Given the description of an element on the screen output the (x, y) to click on. 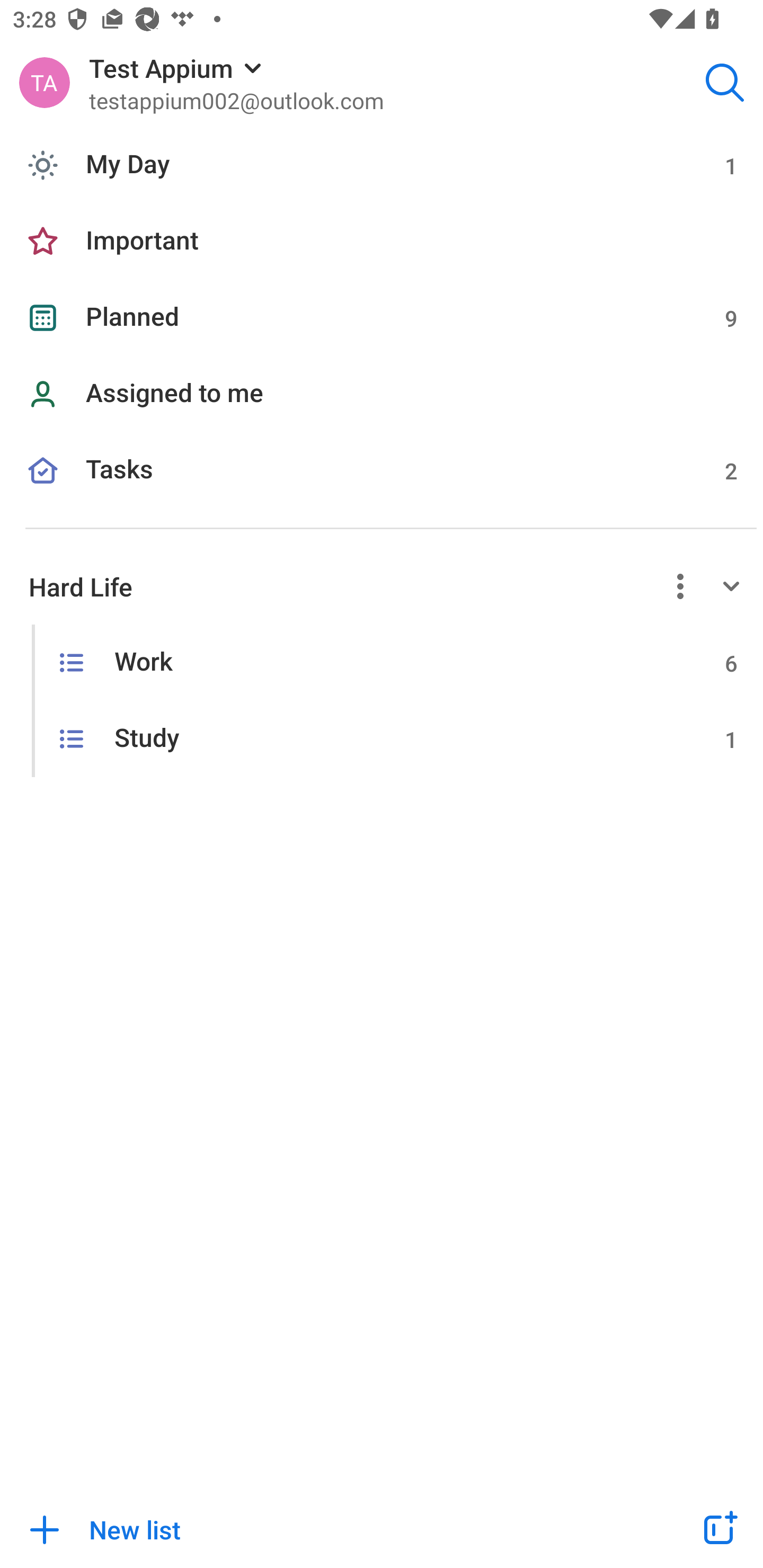
Study, 1 tasks Study 1 (381, 738)
